Given the description of an element on the screen output the (x, y) to click on. 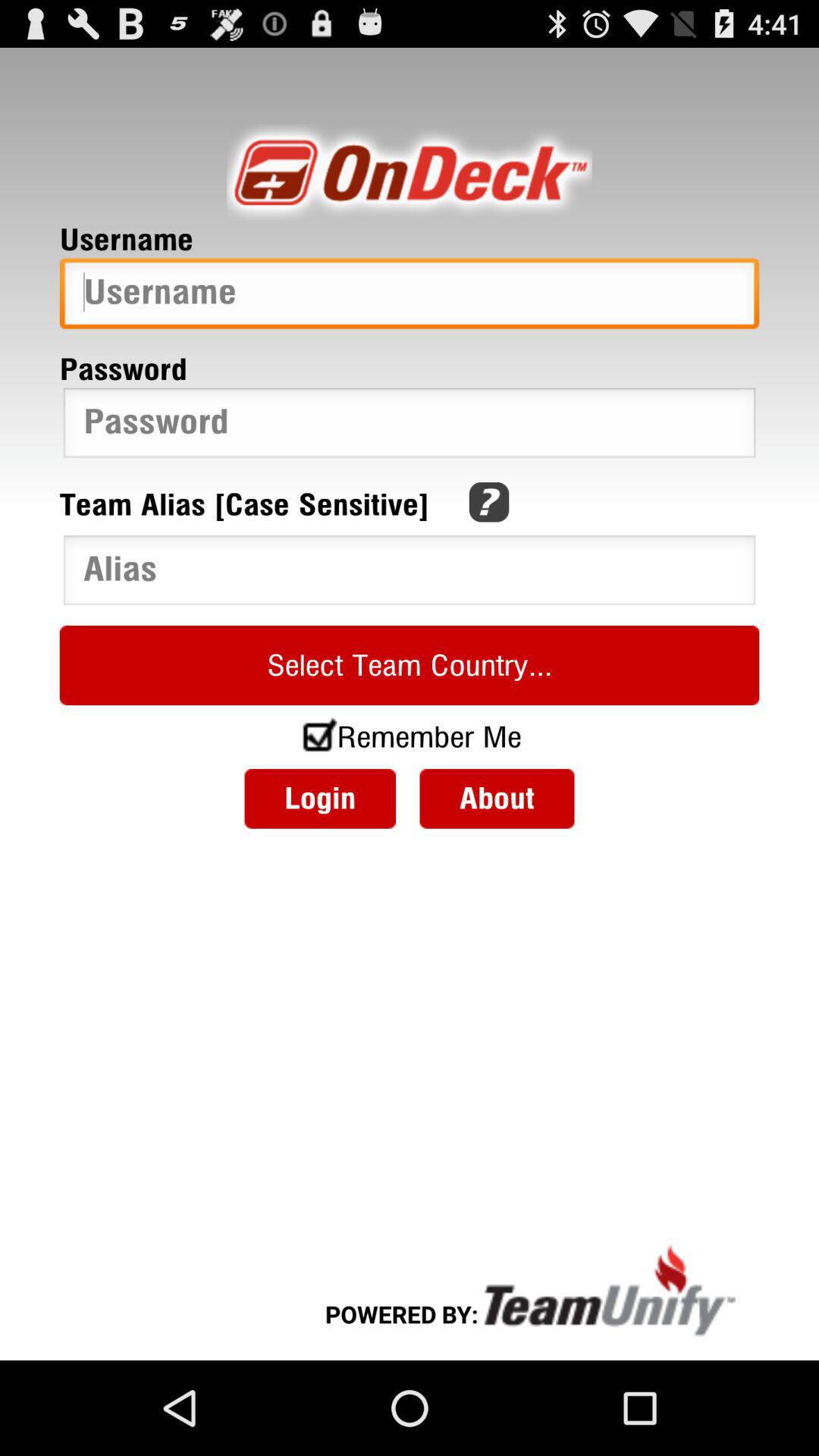
go to qustine marke (489, 502)
